Given the description of an element on the screen output the (x, y) to click on. 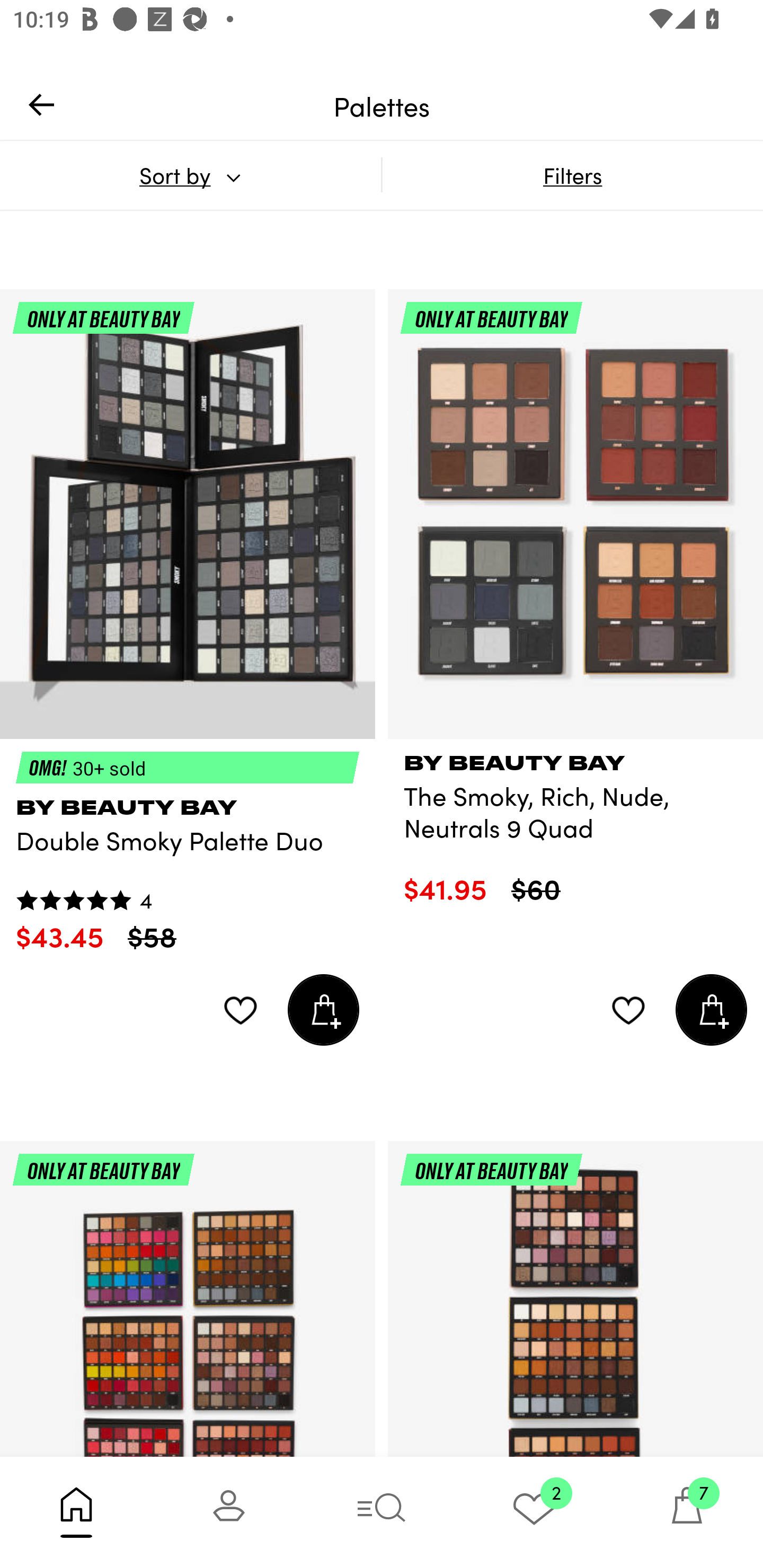
Sort by (190, 174)
Filters (572, 174)
2 (533, 1512)
7 (686, 1512)
